Given the description of an element on the screen output the (x, y) to click on. 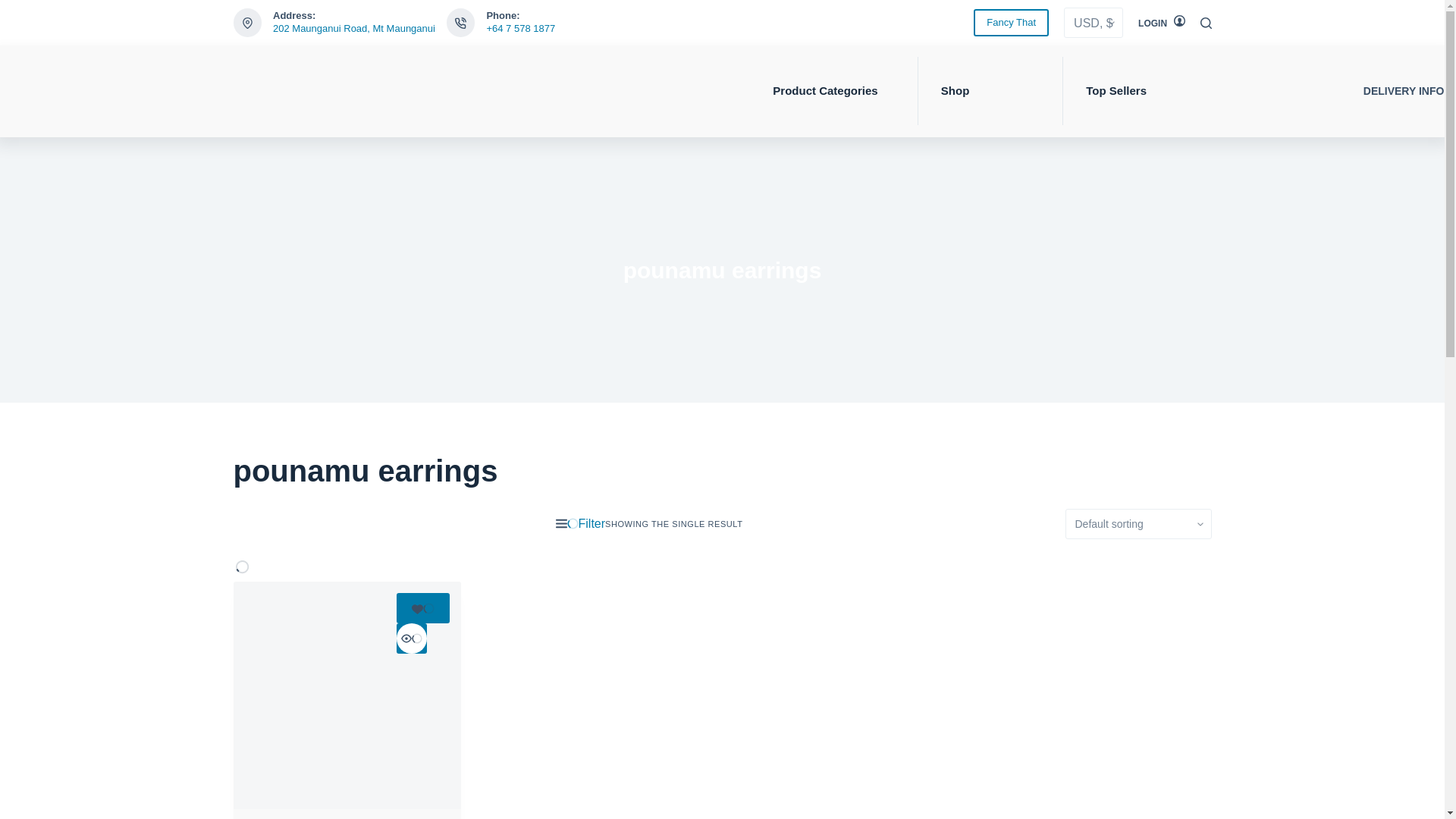
Skip to content (15, 7)
STORE (532, 90)
202 Maunganui Road, Mt Maunganui (354, 28)
HOME (266, 90)
LOGIN (1161, 22)
Product Categories (833, 91)
Fancy That (1011, 22)
Pounamu Twist Earrings (346, 695)
pounamu earrings (722, 270)
